Given the description of an element on the screen output the (x, y) to click on. 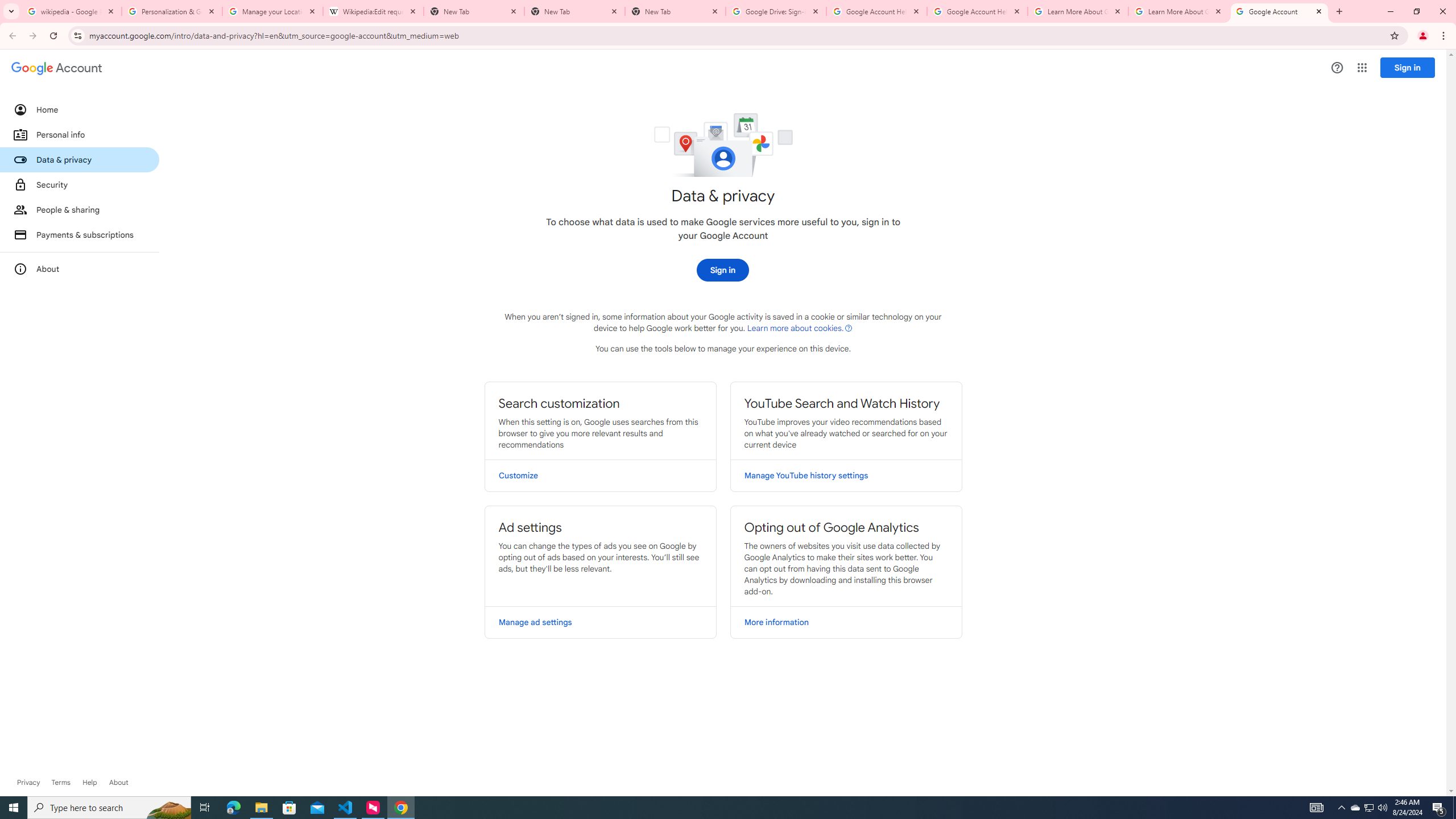
New Tab (675, 11)
Manage ad settings (600, 622)
Learn more about Google Account (118, 782)
